Given the description of an element on the screen output the (x, y) to click on. 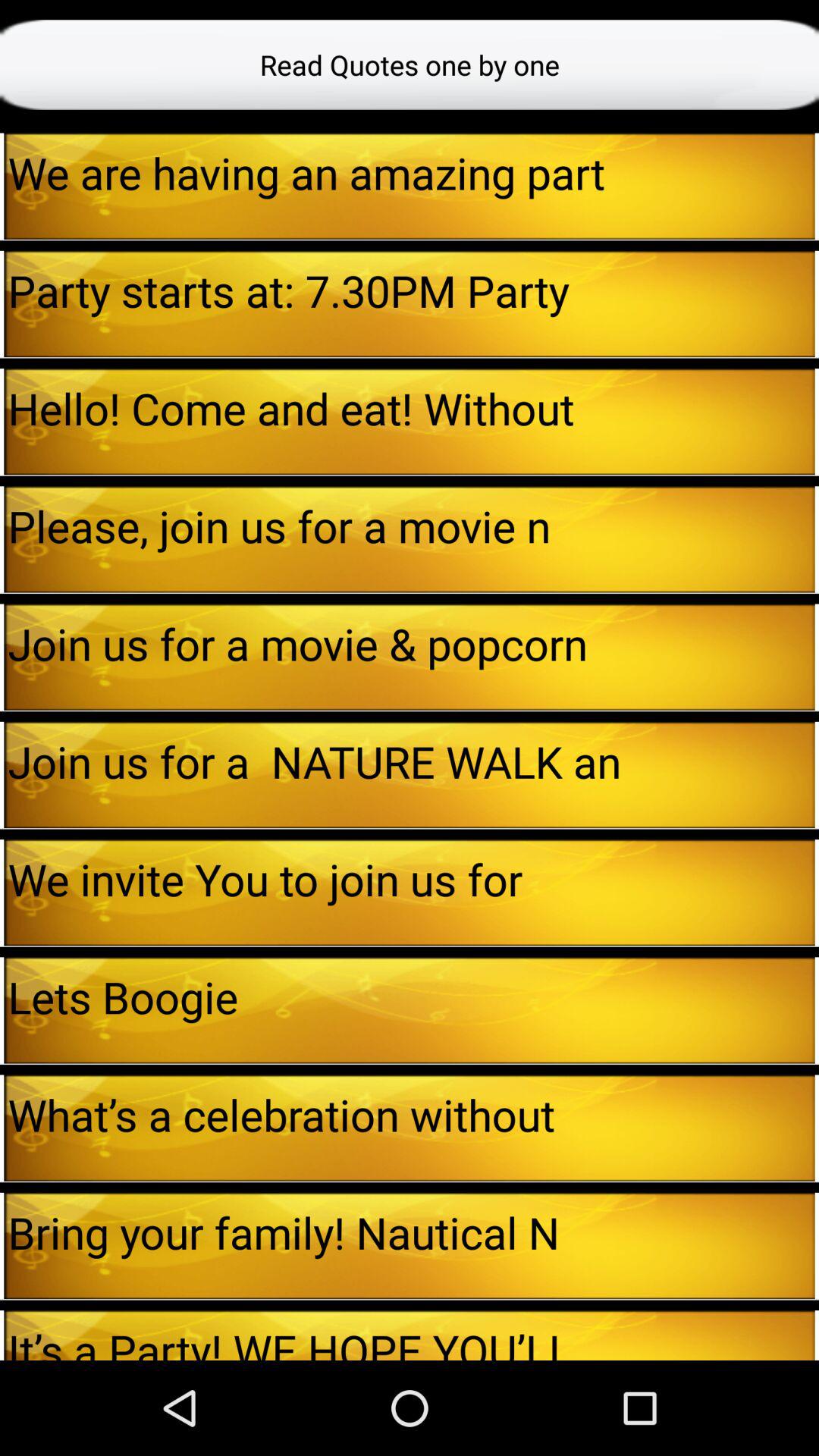
select the icon to the right of hello come and app (817, 421)
